Given the description of an element on the screen output the (x, y) to click on. 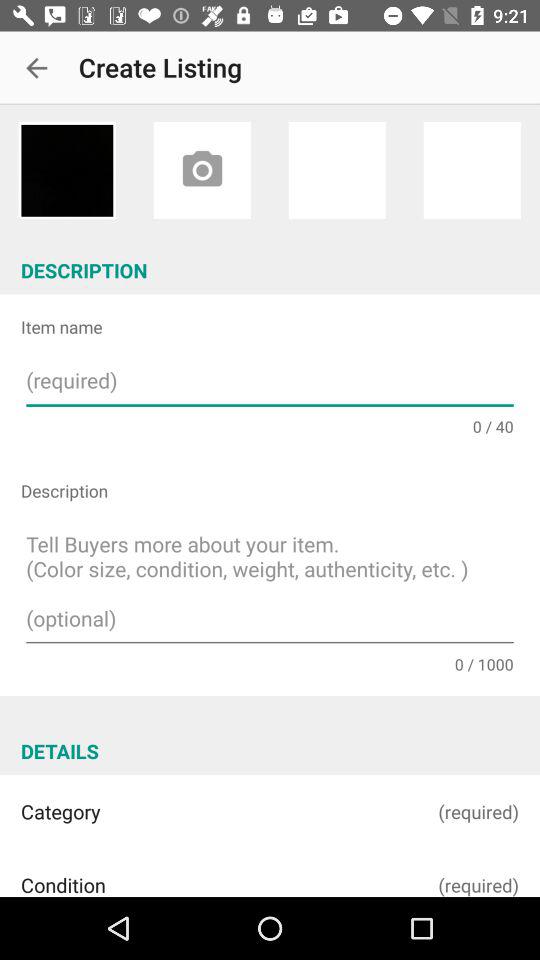
tap app next to the create listing item (36, 67)
